Given the description of an element on the screen output the (x, y) to click on. 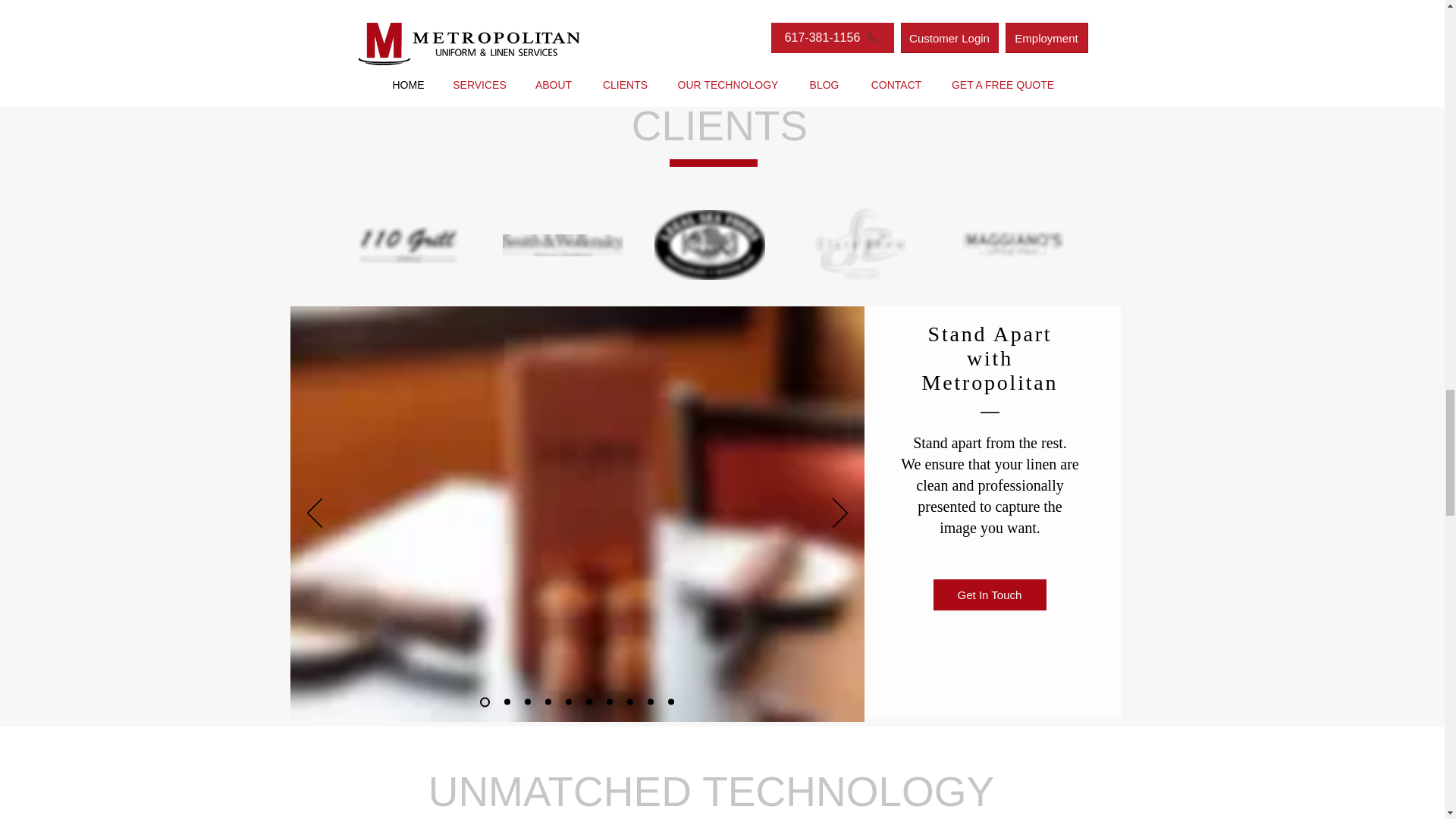
Get In Touch (989, 594)
